Given the description of an element on the screen output the (x, y) to click on. 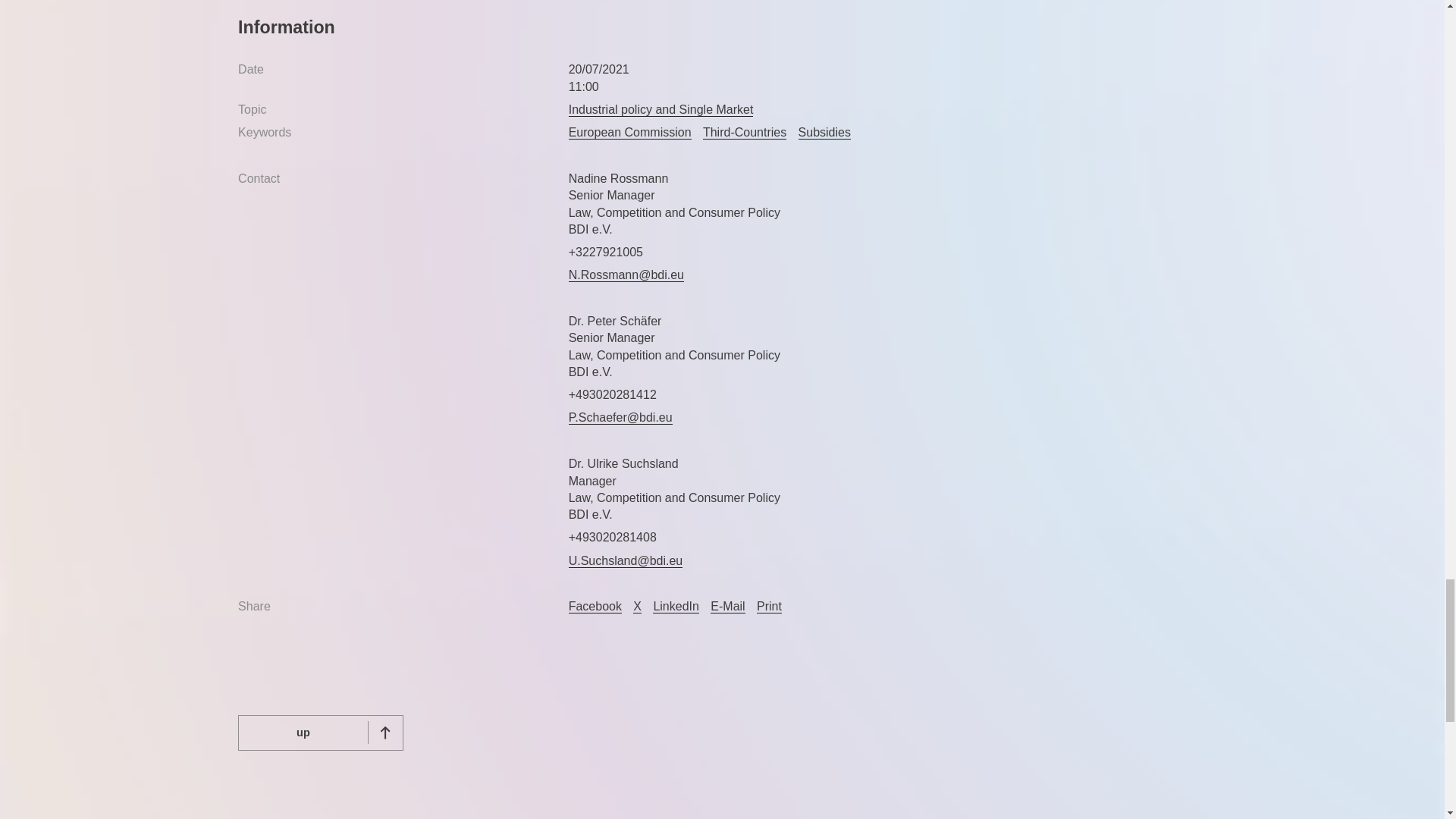
LinkedIn (675, 606)
Email (727, 606)
Facebook (595, 606)
